Given the description of an element on the screen output the (x, y) to click on. 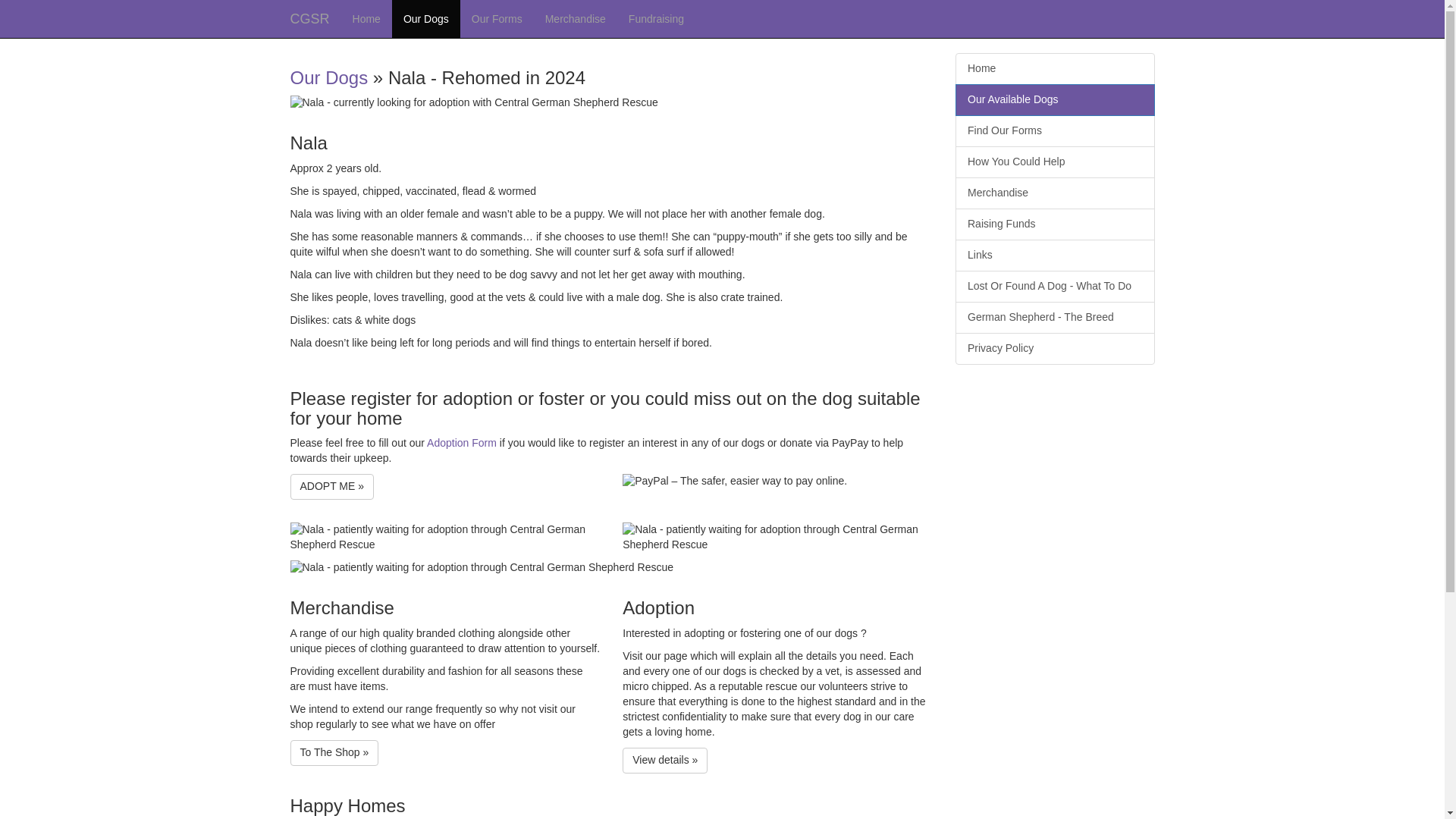
Lost Or Found A Dog - What To Do (1054, 286)
Links (1054, 255)
Home (365, 18)
Raising Funds (1054, 224)
Our Available Dogs (1054, 100)
Adoption Form (461, 442)
Fundraising (656, 18)
Merchandise (575, 18)
Our Dogs (328, 77)
Our Forms (497, 18)
